Given the description of an element on the screen output the (x, y) to click on. 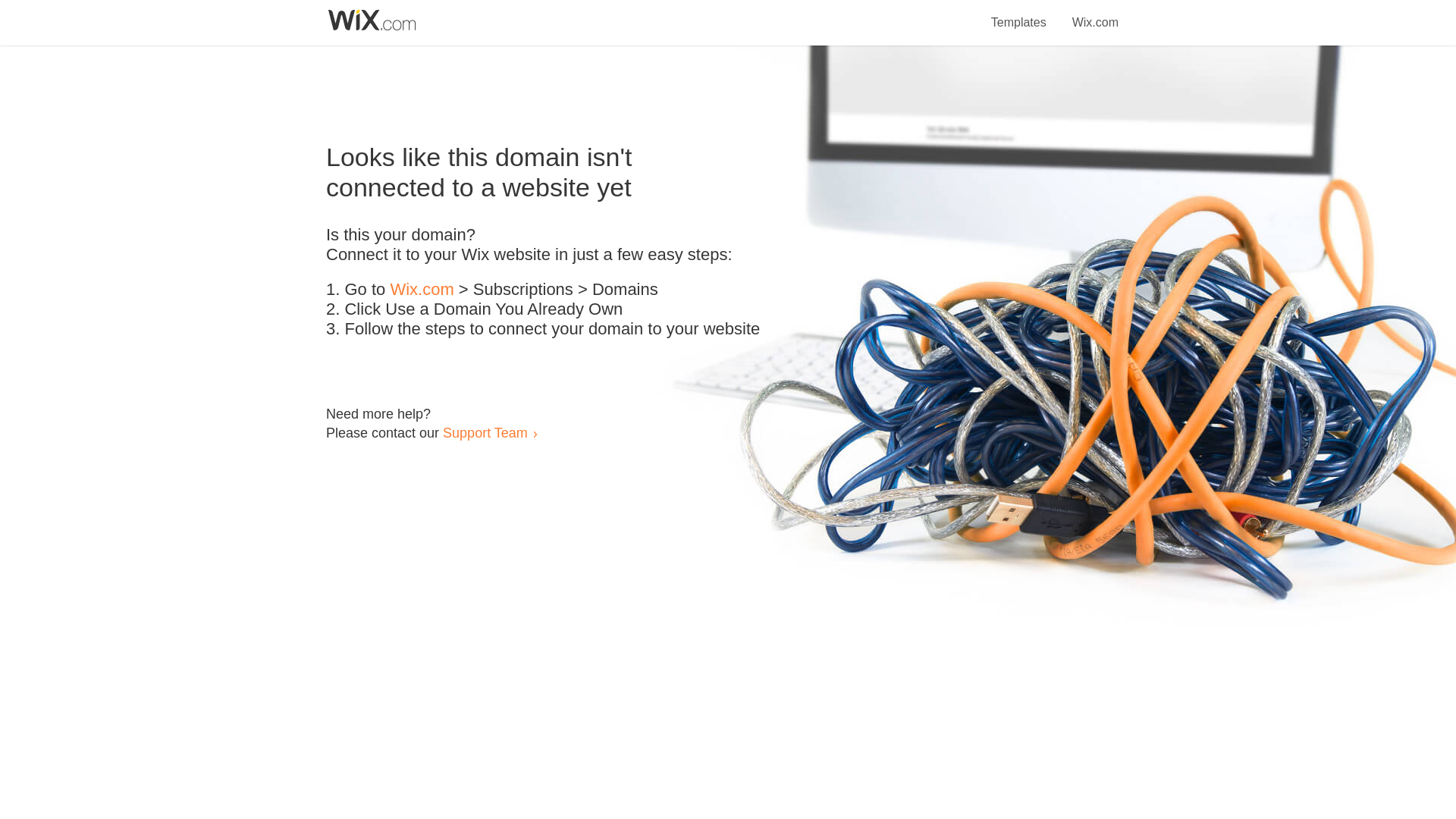
Templates (1018, 14)
Support Team (484, 432)
Wix.com (1095, 14)
Wix.com (421, 289)
